Given the description of an element on the screen output the (x, y) to click on. 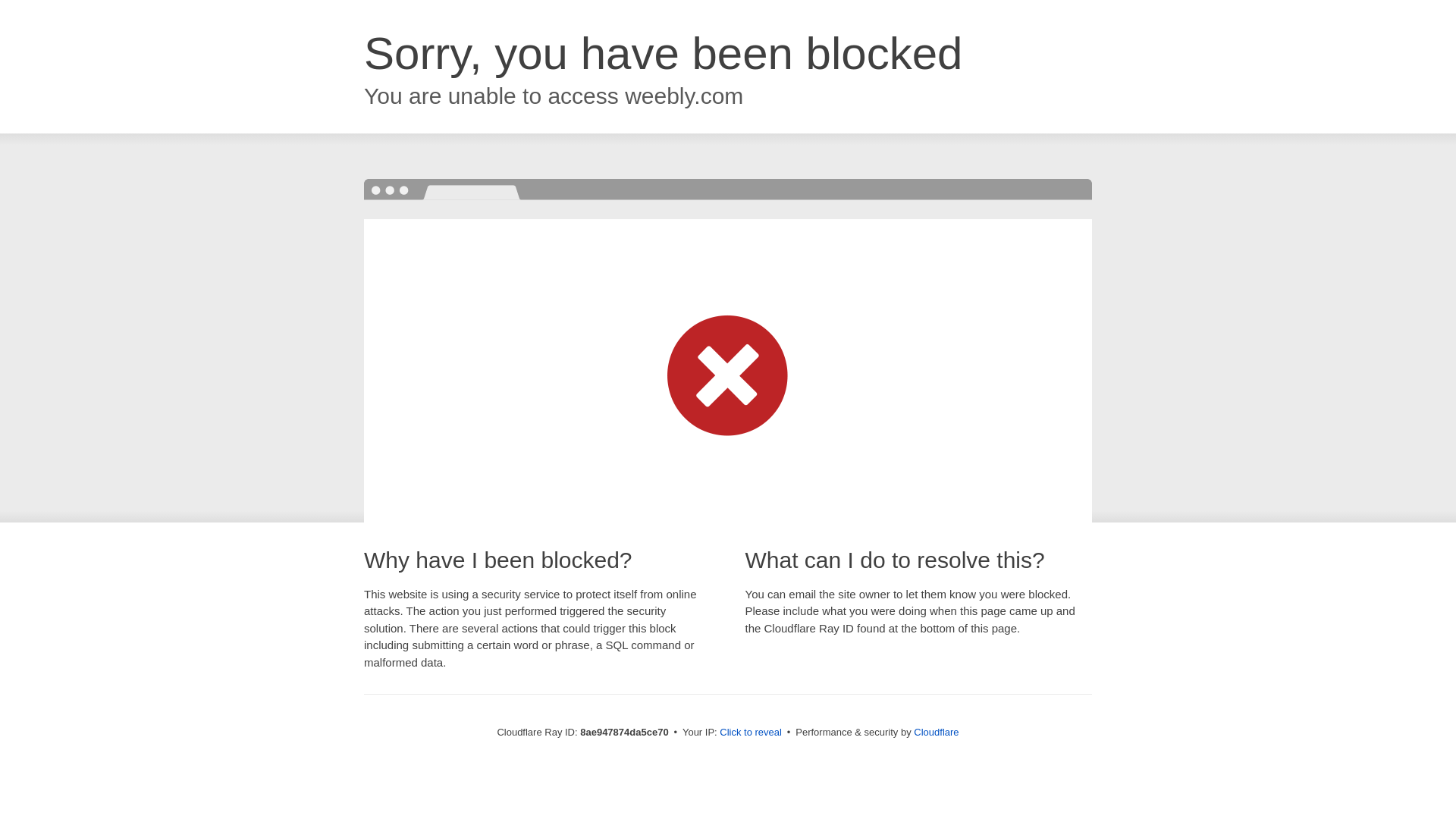
Cloudflare (936, 731)
Click to reveal (750, 732)
